Given the description of an element on the screen output the (x, y) to click on. 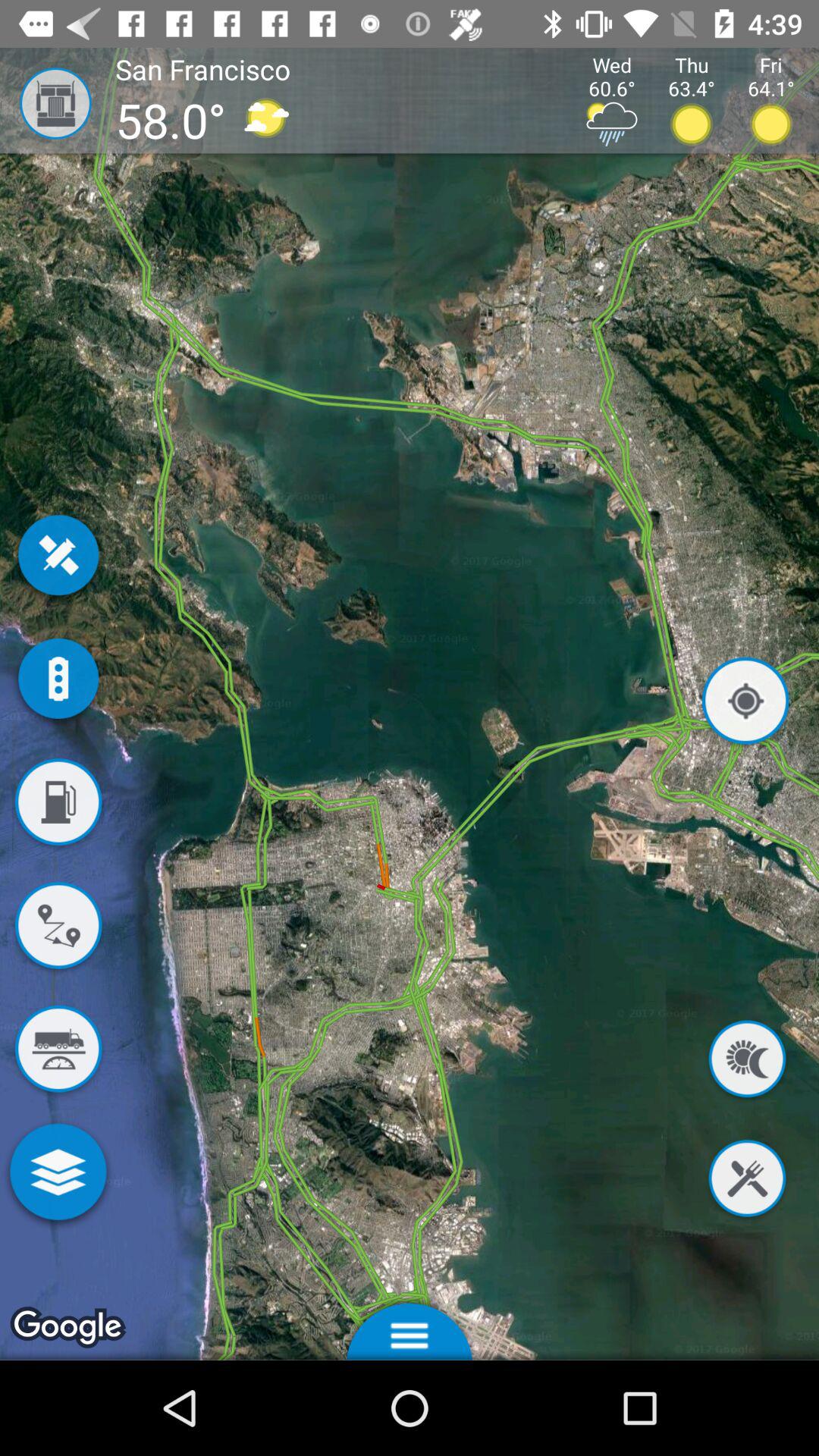
find gas stations (57, 804)
